Given the description of an element on the screen output the (x, y) to click on. 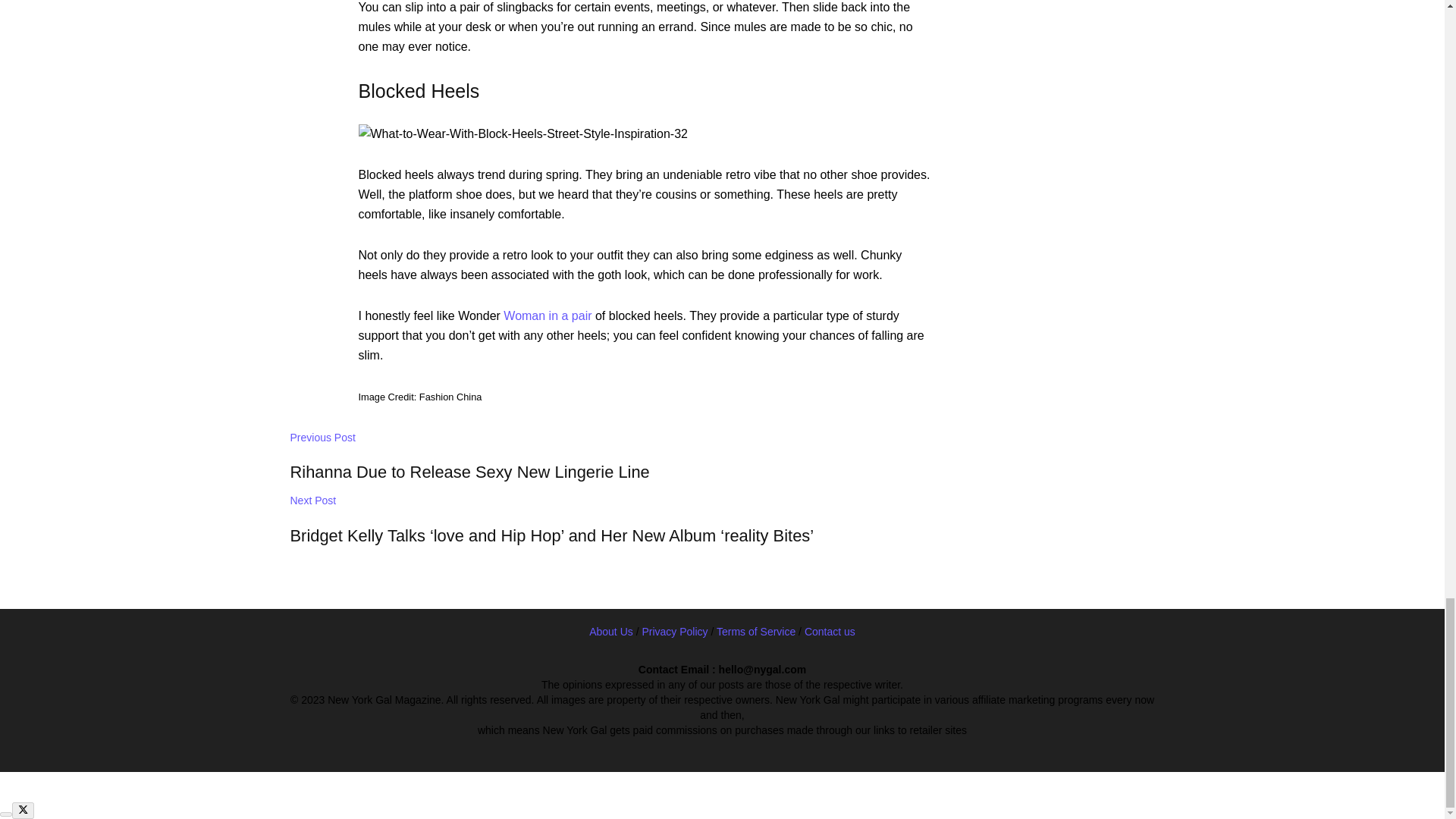
Woman in a pair (547, 315)
